Given the description of an element on the screen output the (x, y) to click on. 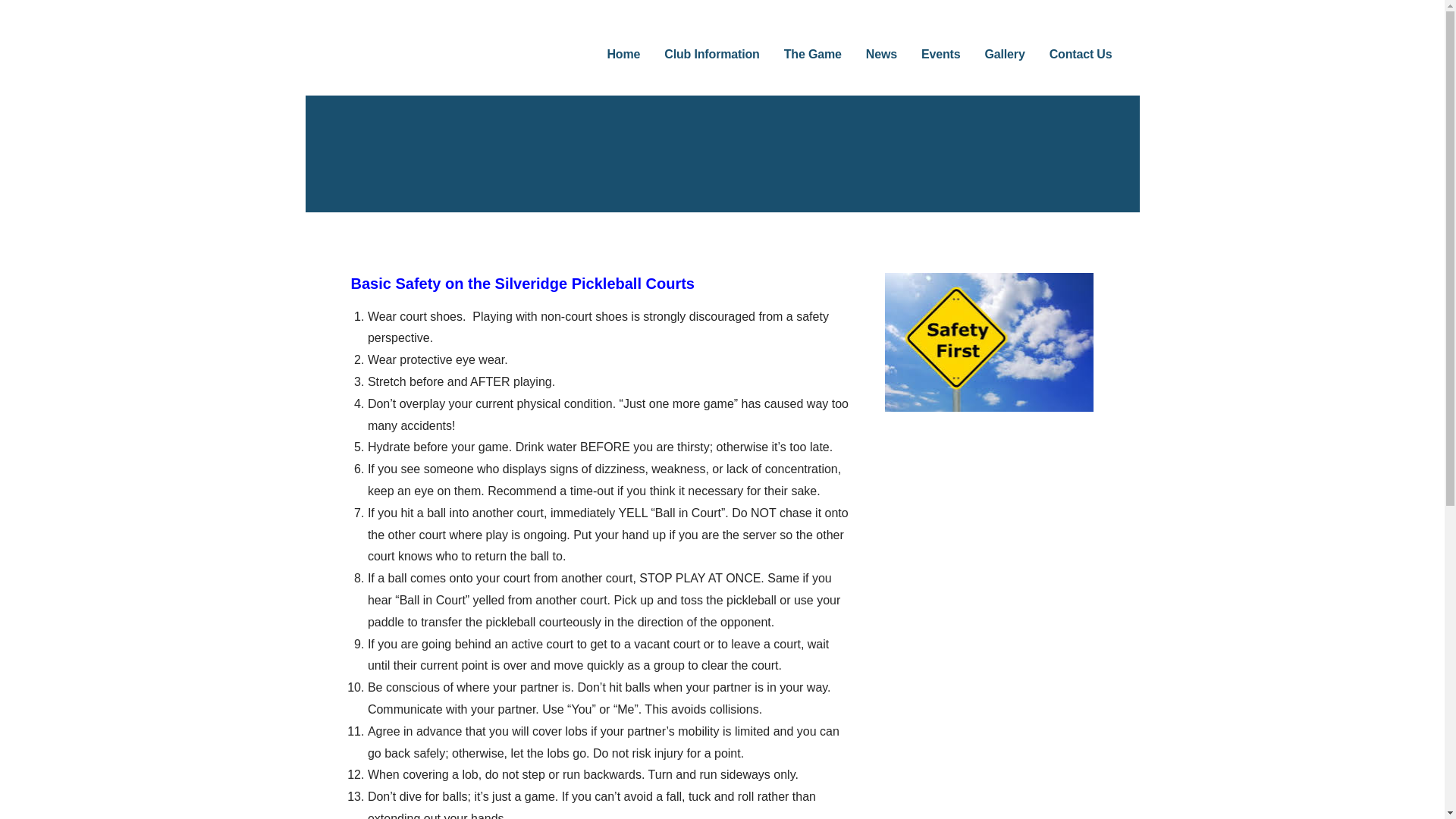
Events (940, 55)
Silveridge Pickleball Club (490, 51)
The Game (812, 55)
News (881, 55)
Contact Us (1080, 55)
Club Information (710, 55)
Gallery (1004, 55)
Home (623, 55)
safety first (988, 341)
